Given the description of an element on the screen output the (x, y) to click on. 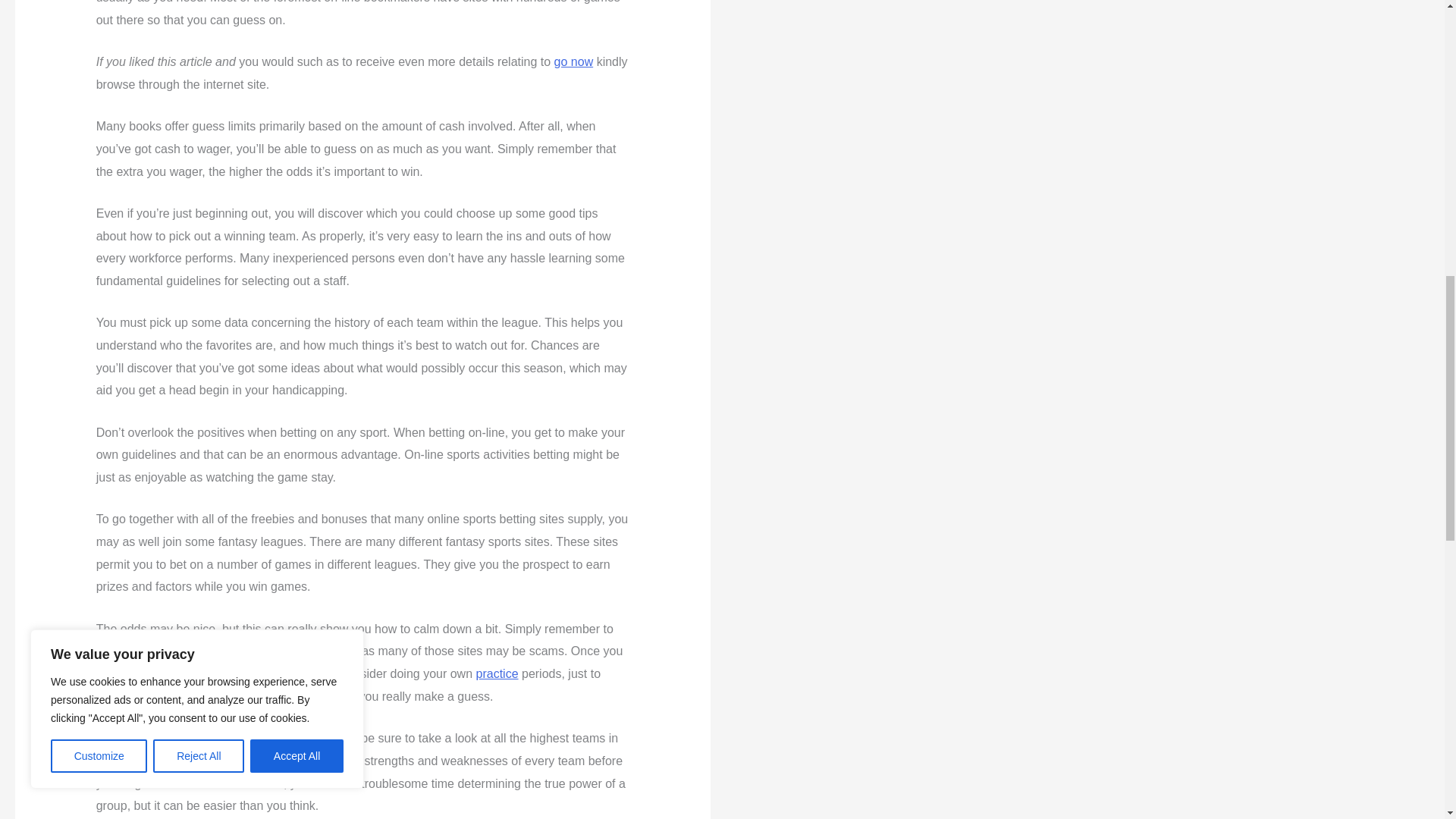
go now (574, 61)
practice (497, 673)
reputable (307, 650)
